Given the description of an element on the screen output the (x, y) to click on. 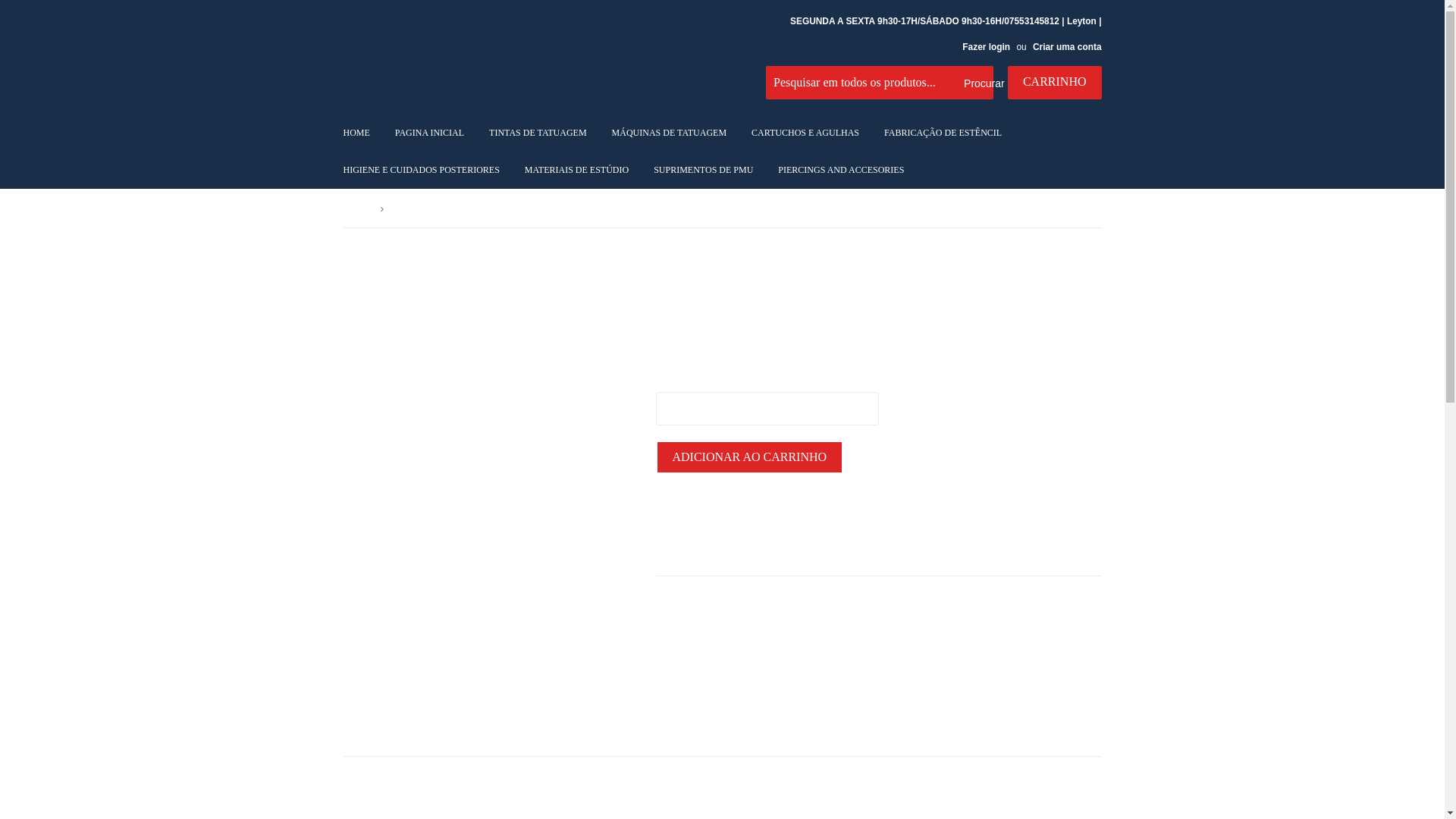
1 (766, 408)
Fazer login (986, 46)
Procurar (975, 83)
Criar uma conta (1067, 46)
CARRINHO (1054, 82)
